Given the description of an element on the screen output the (x, y) to click on. 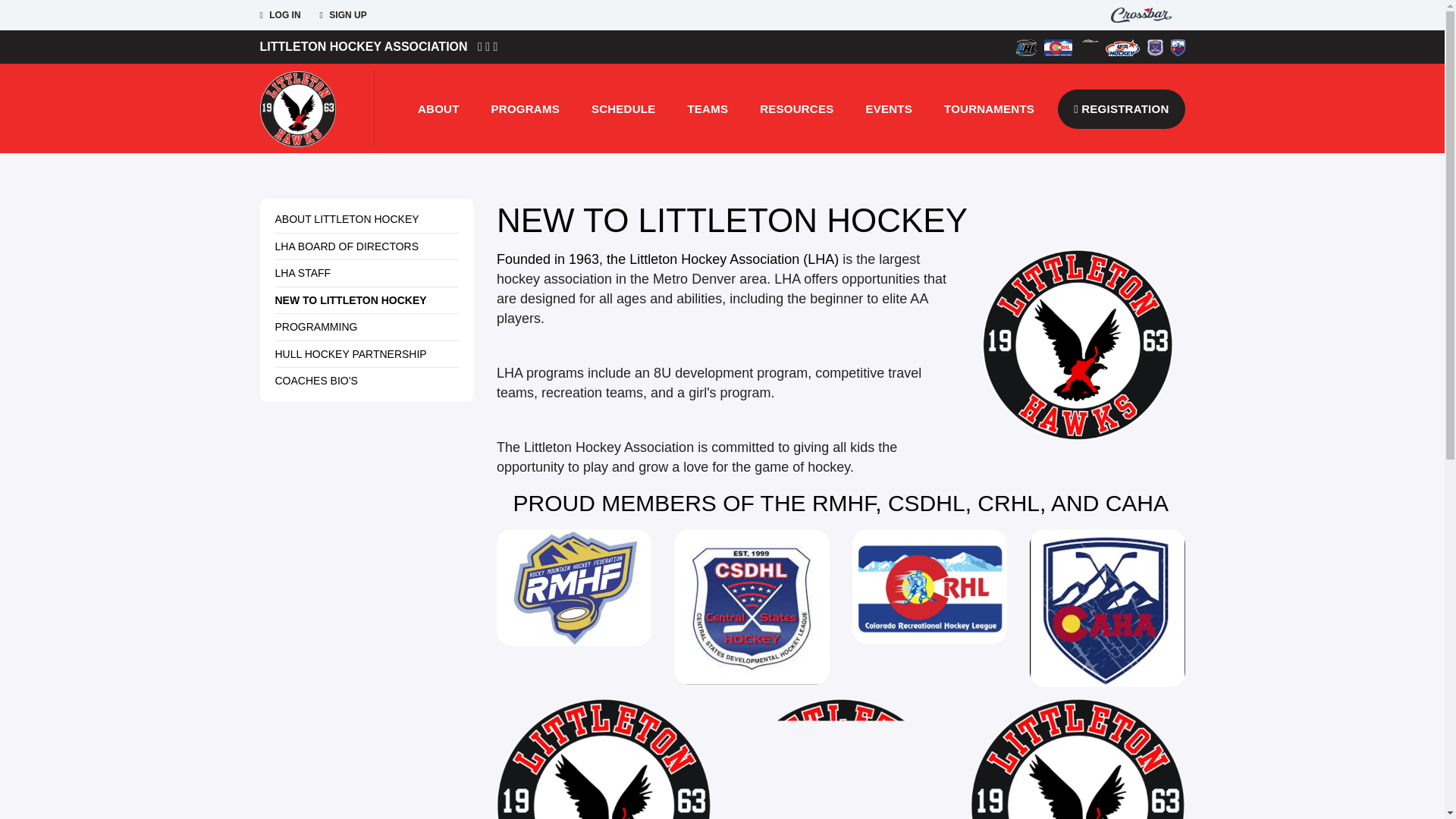
LOG IN (279, 15)
LITTLETON HOCKEY ASSOCIATION (363, 46)
SIGN UP (343, 15)
PROGRAMS (525, 108)
ABOUT (438, 108)
